Given the description of an element on the screen output the (x, y) to click on. 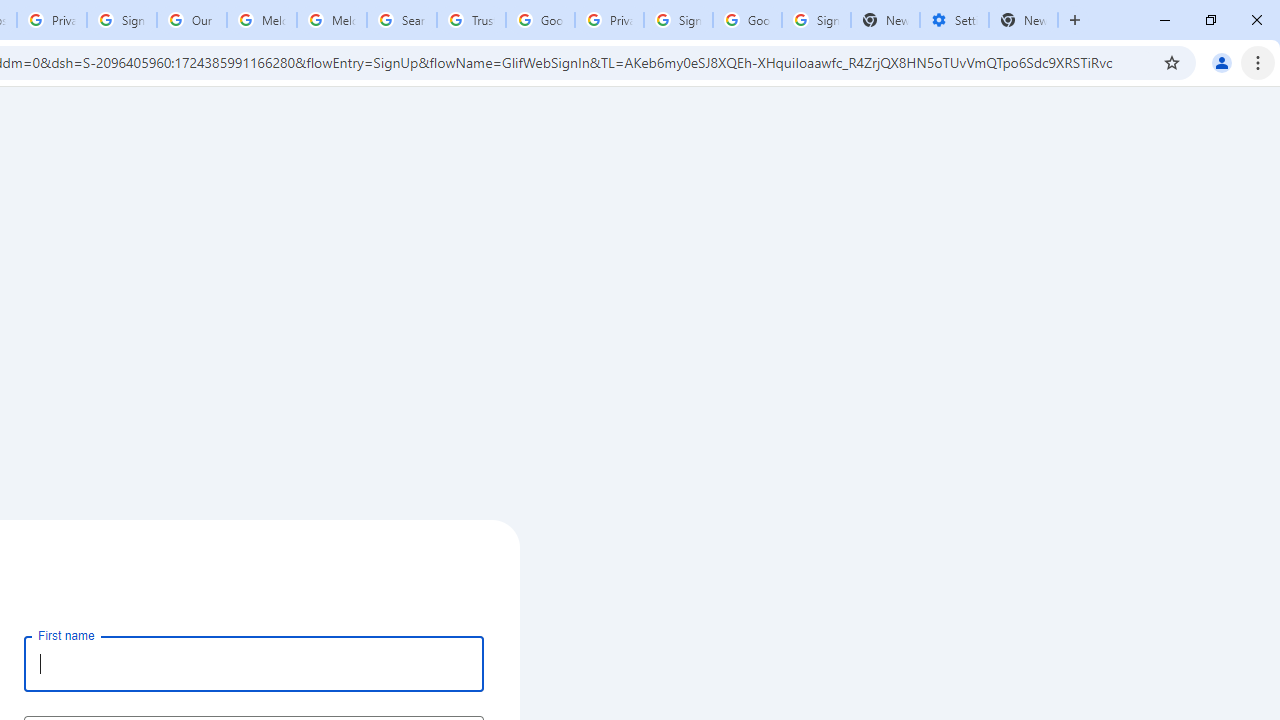
Sign in - Google Accounts (816, 20)
Trusted Information and Content - Google Safety Center (470, 20)
New Tab (1023, 20)
Google Cybersecurity Innovations - Google Safety Center (747, 20)
Google Ads - Sign in (539, 20)
Settings - Addresses and more (954, 20)
First name (253, 663)
